Given the description of an element on the screen output the (x, y) to click on. 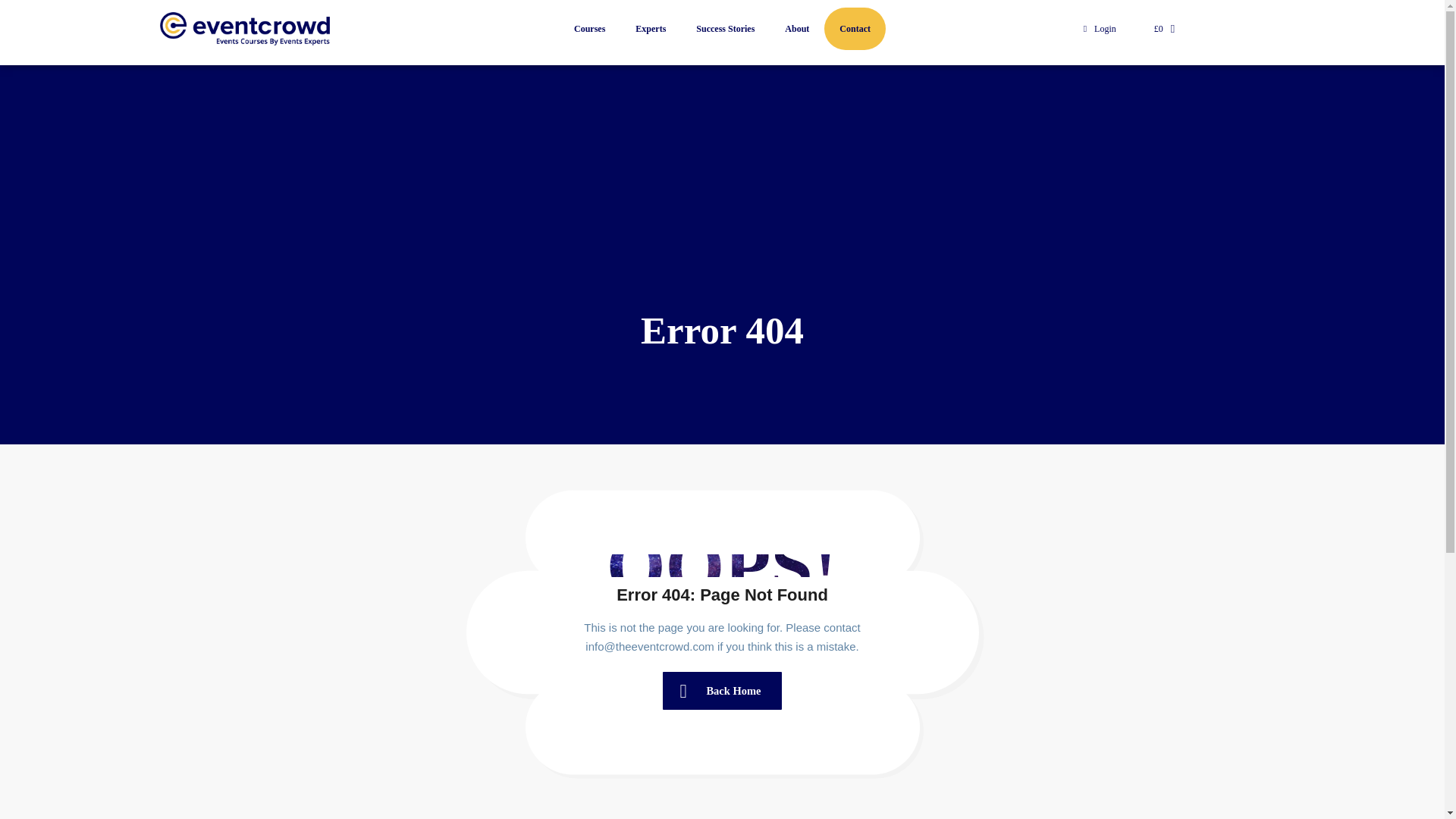
Courses (589, 28)
About (797, 28)
Experts (650, 28)
Contact (854, 28)
Success Stories (725, 28)
Login (1098, 29)
